Given the description of an element on the screen output the (x, y) to click on. 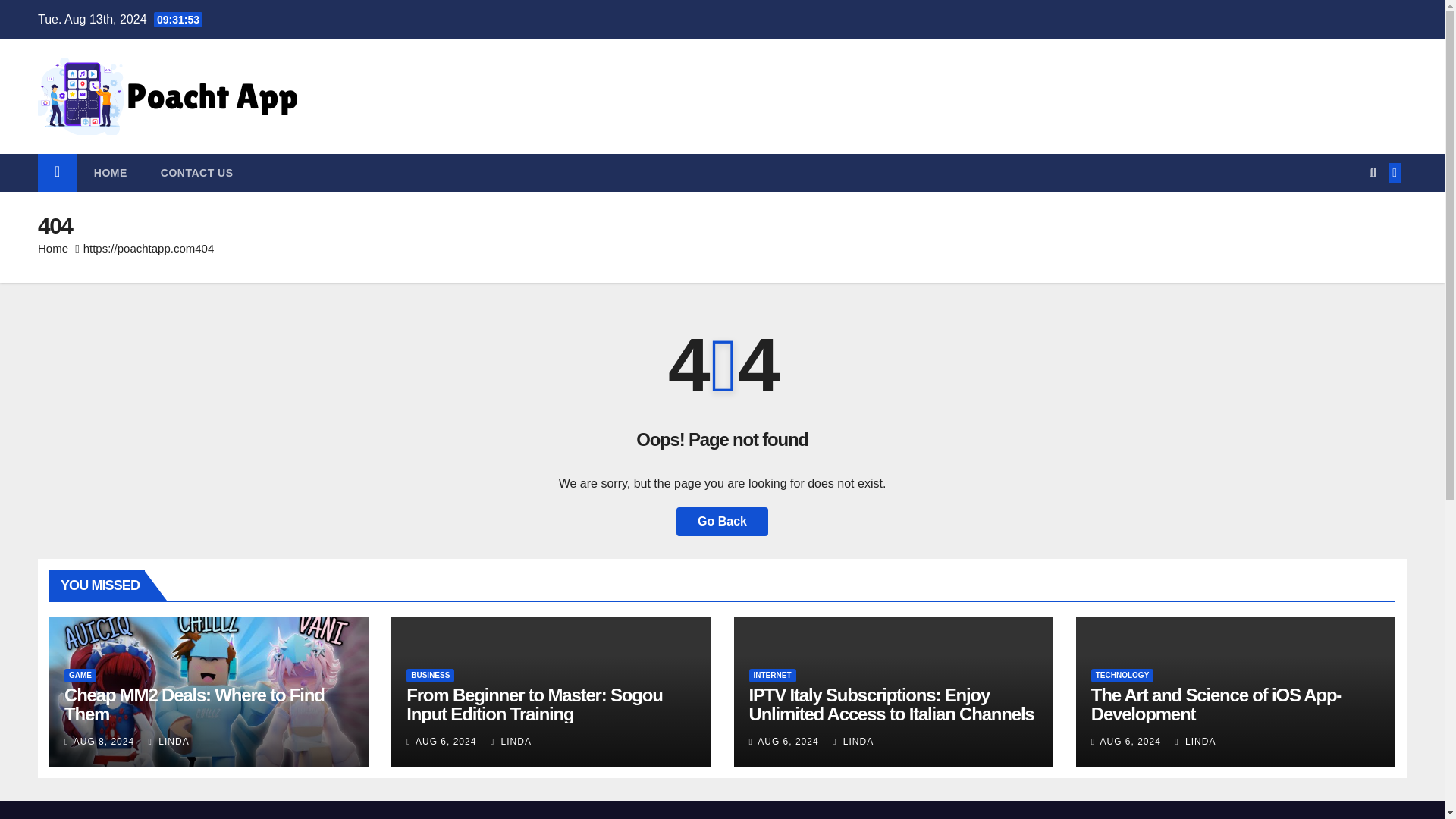
HOME (110, 172)
AUG 6, 2024 (1129, 741)
TECHNOLOGY (1122, 675)
LINDA (168, 741)
LINDA (1194, 741)
From Beginner to Master: Sogou Input Edition Training (534, 703)
The Art and Science of iOS App-Development (1215, 703)
LINDA (852, 741)
Cheap MM2 Deals: Where to Find Them (194, 703)
Permalink to: The Art and Science of iOS App-Development (1215, 703)
